Given the description of an element on the screen output the (x, y) to click on. 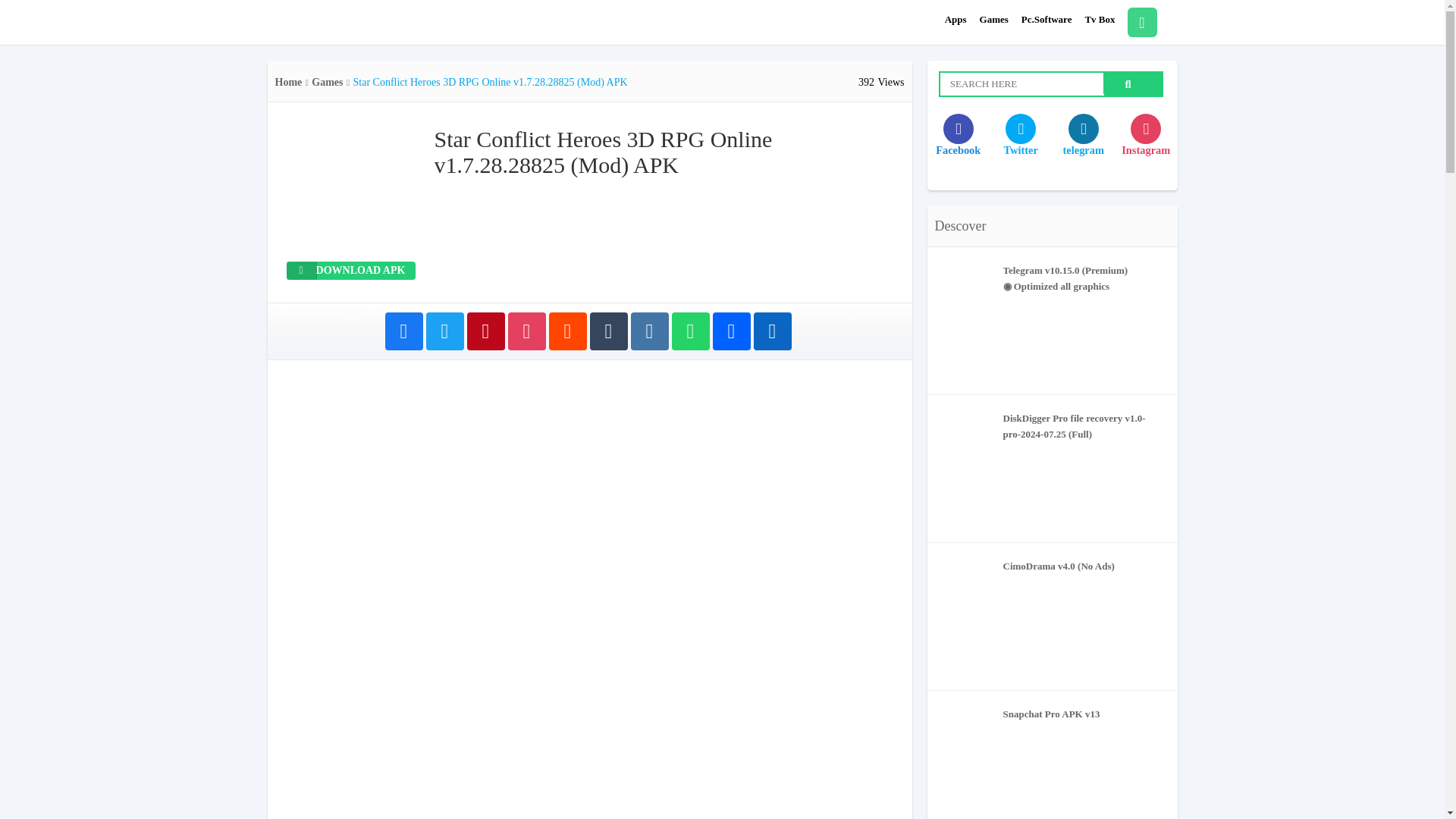
Games (326, 81)
Games (994, 19)
Tv Box (1099, 19)
Home (288, 81)
DOWNLOAD APK (350, 270)
Apps (955, 19)
Pc.Software (1046, 19)
